Given the description of an element on the screen output the (x, y) to click on. 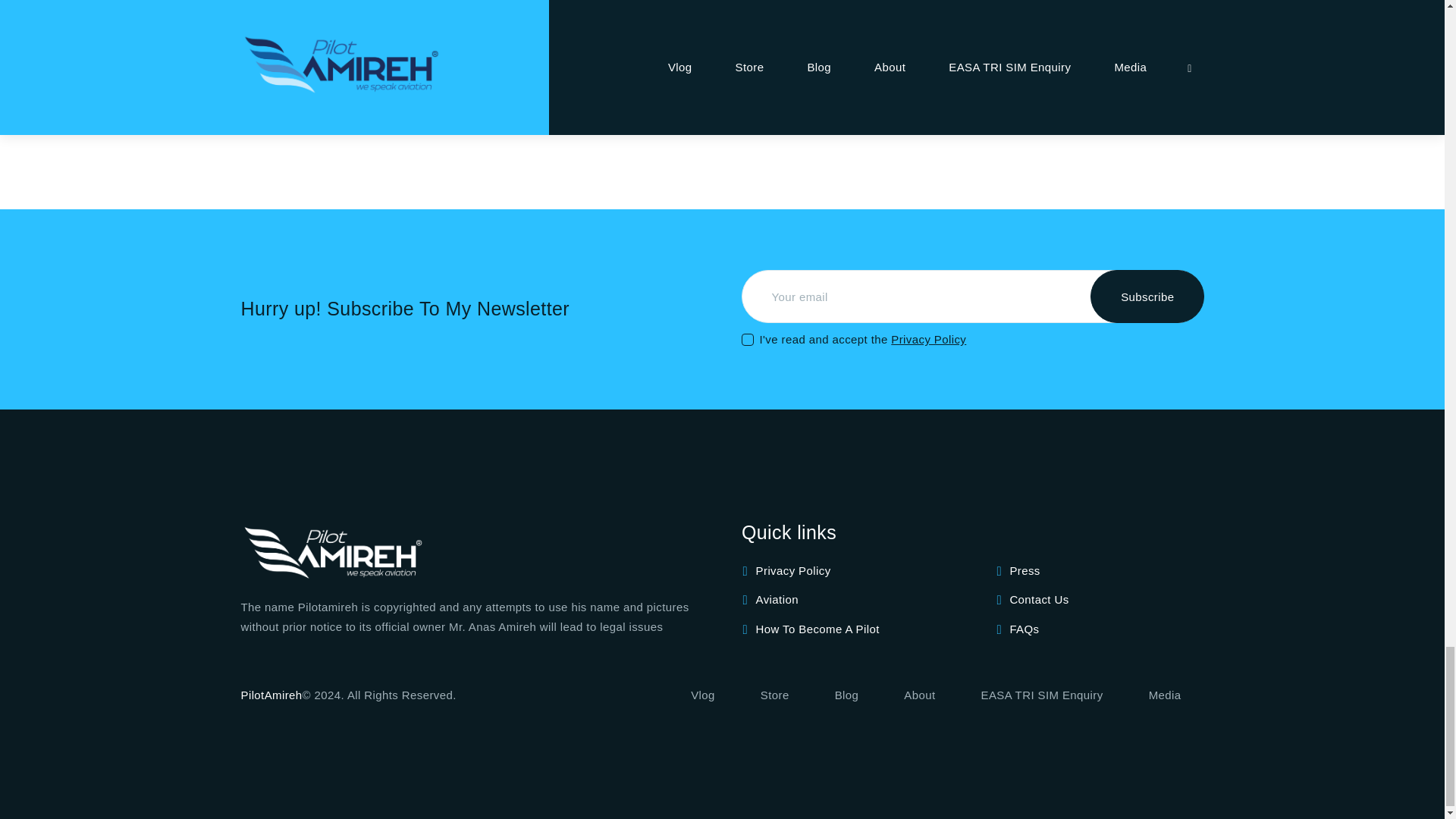
1 (746, 327)
Subscribe (1147, 296)
